Given the description of an element on the screen output the (x, y) to click on. 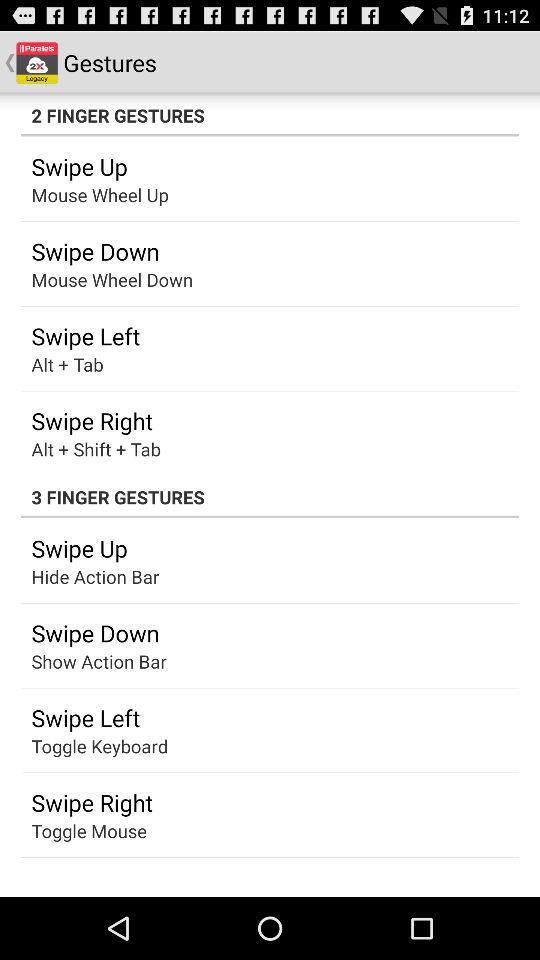
scroll to the toggle mouse app (88, 830)
